Given the description of an element on the screen output the (x, y) to click on. 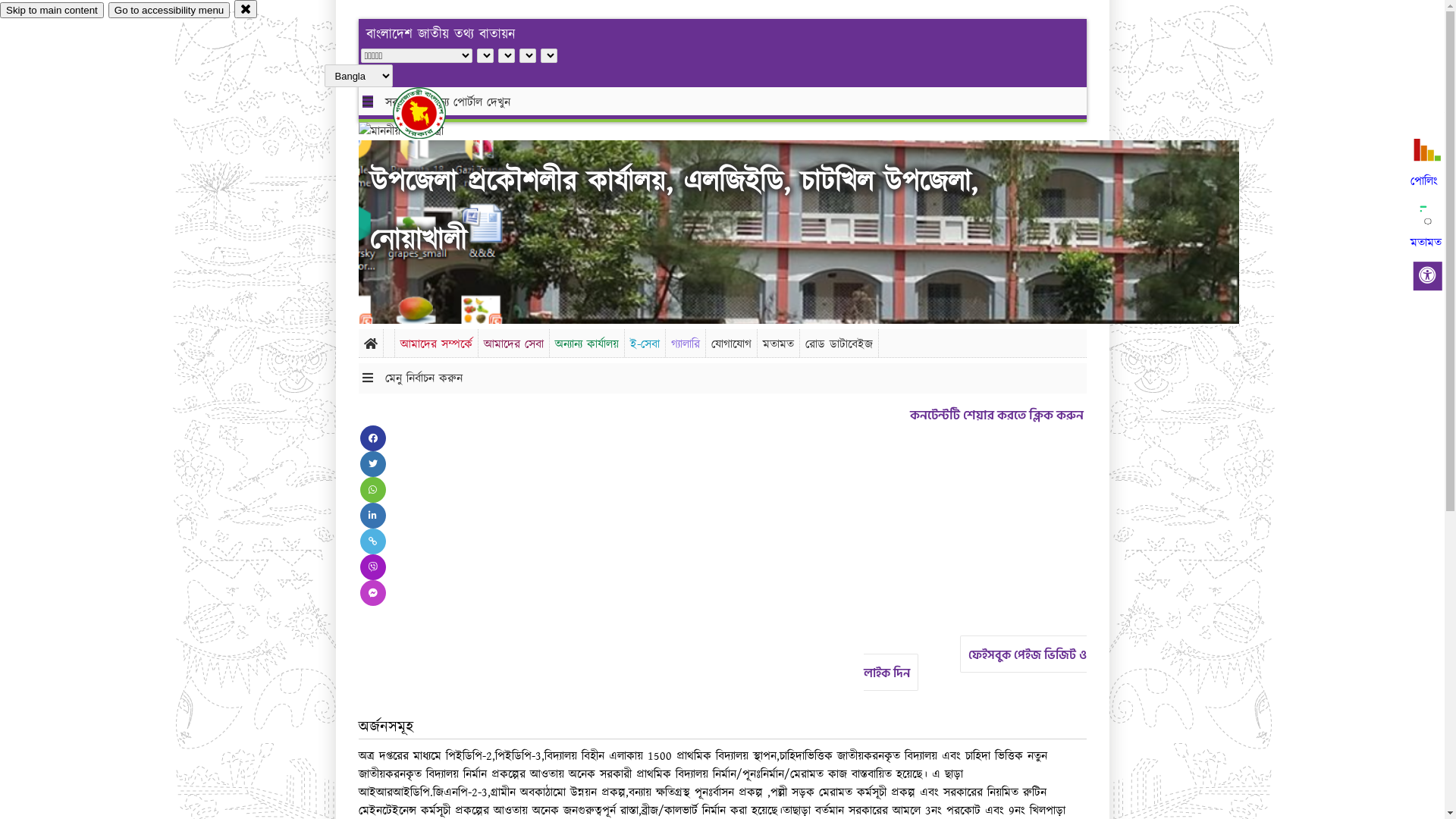
Go to accessibility menu Element type: text (168, 10)
close Element type: hover (245, 9)

                
             Element type: hover (431, 112)
Skip to main content Element type: text (51, 10)
